Given the description of an element on the screen output the (x, y) to click on. 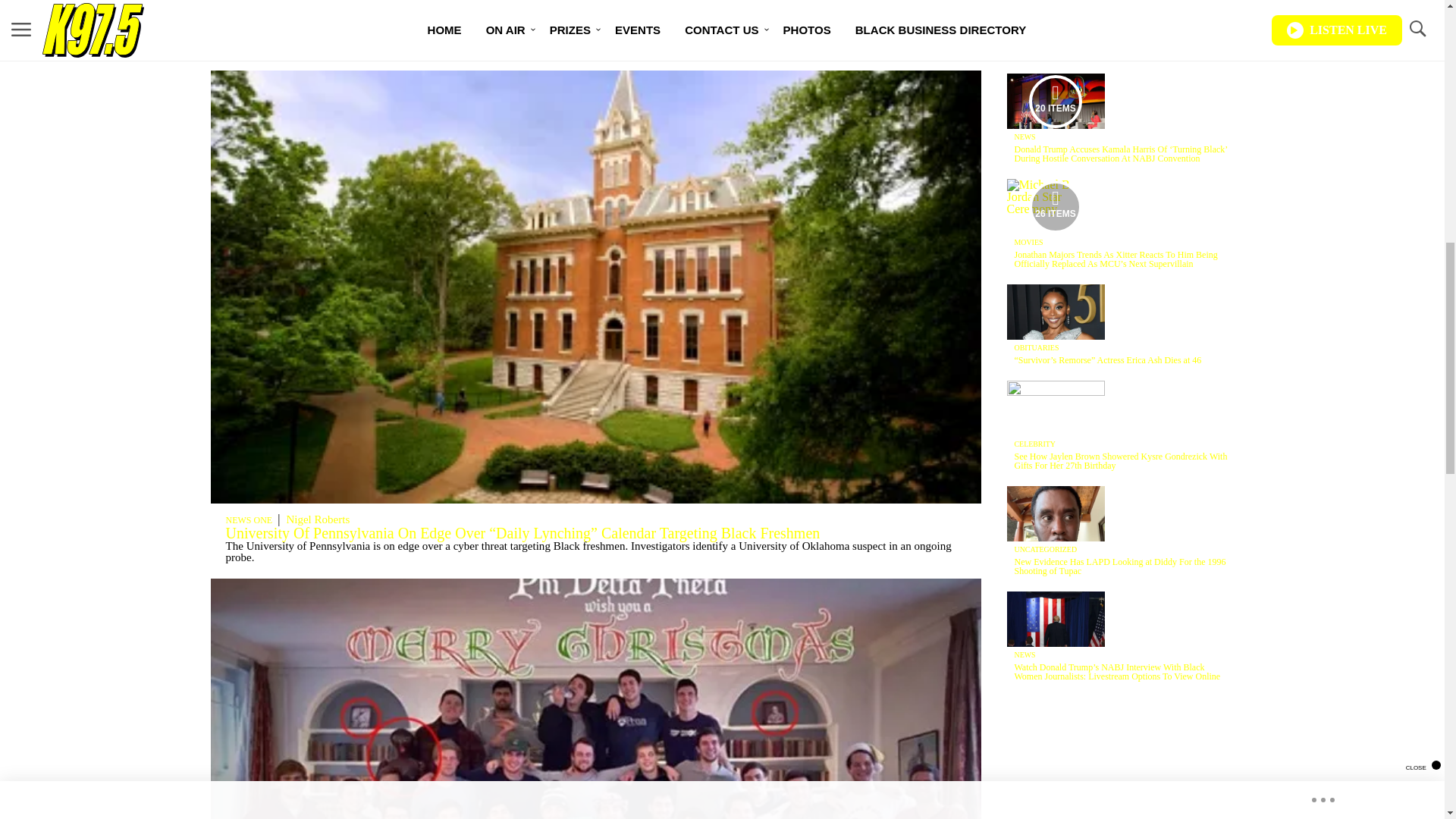
NEWS ONE (249, 23)
NEWS (1024, 31)
NEWS ONE (249, 520)
Media Playlist (1055, 100)
Media Playlist (1055, 11)
9 ITEMS (1056, 11)
Nigel Roberts (317, 519)
Media Playlist (1055, 206)
Incidents Of Hate Rise Nationwide After Trump Election (398, 36)
